Given the description of an element on the screen output the (x, y) to click on. 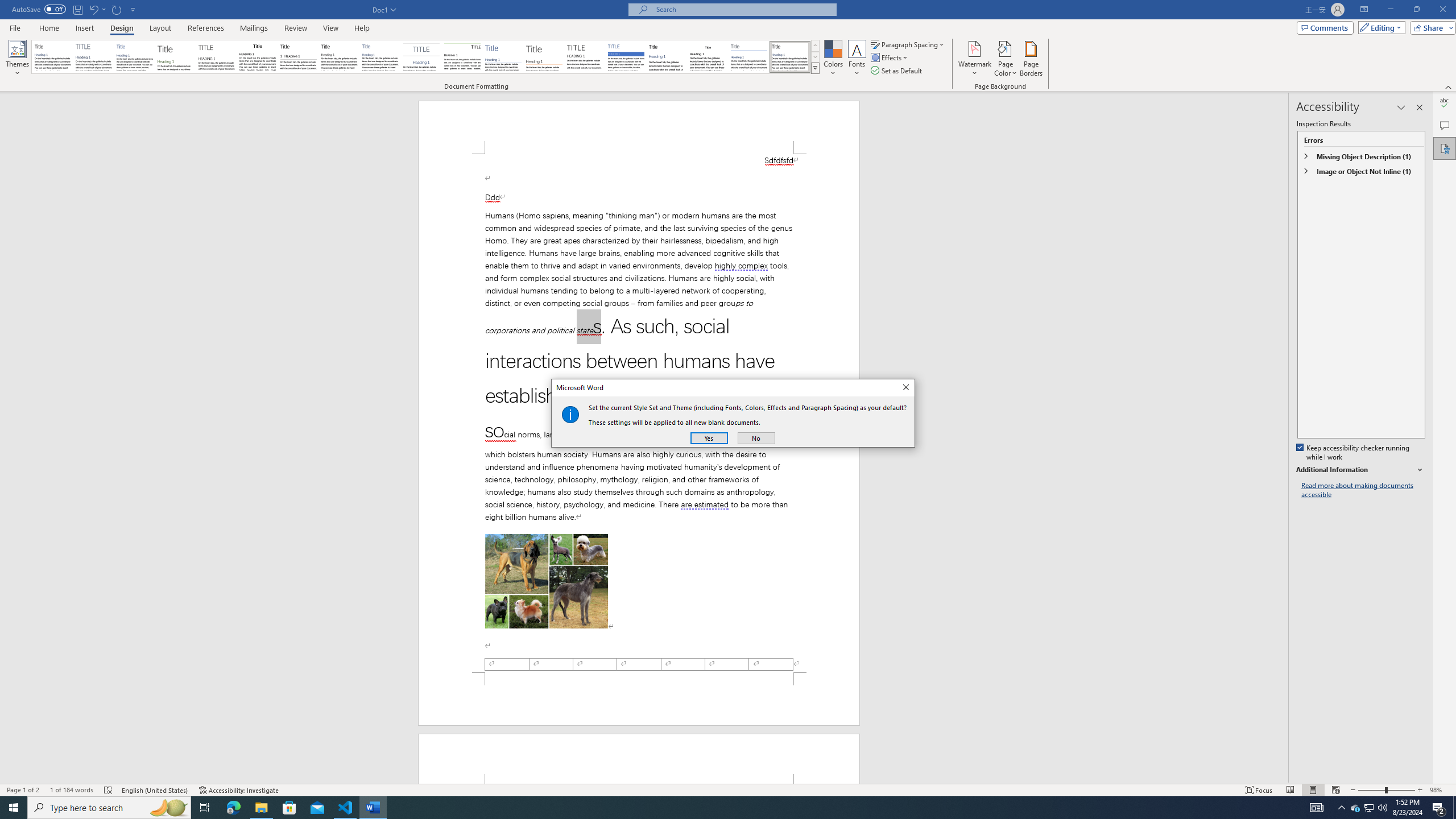
Accessibility (1444, 147)
Paragraph Spacing (908, 44)
